Given the description of an element on the screen output the (x, y) to click on. 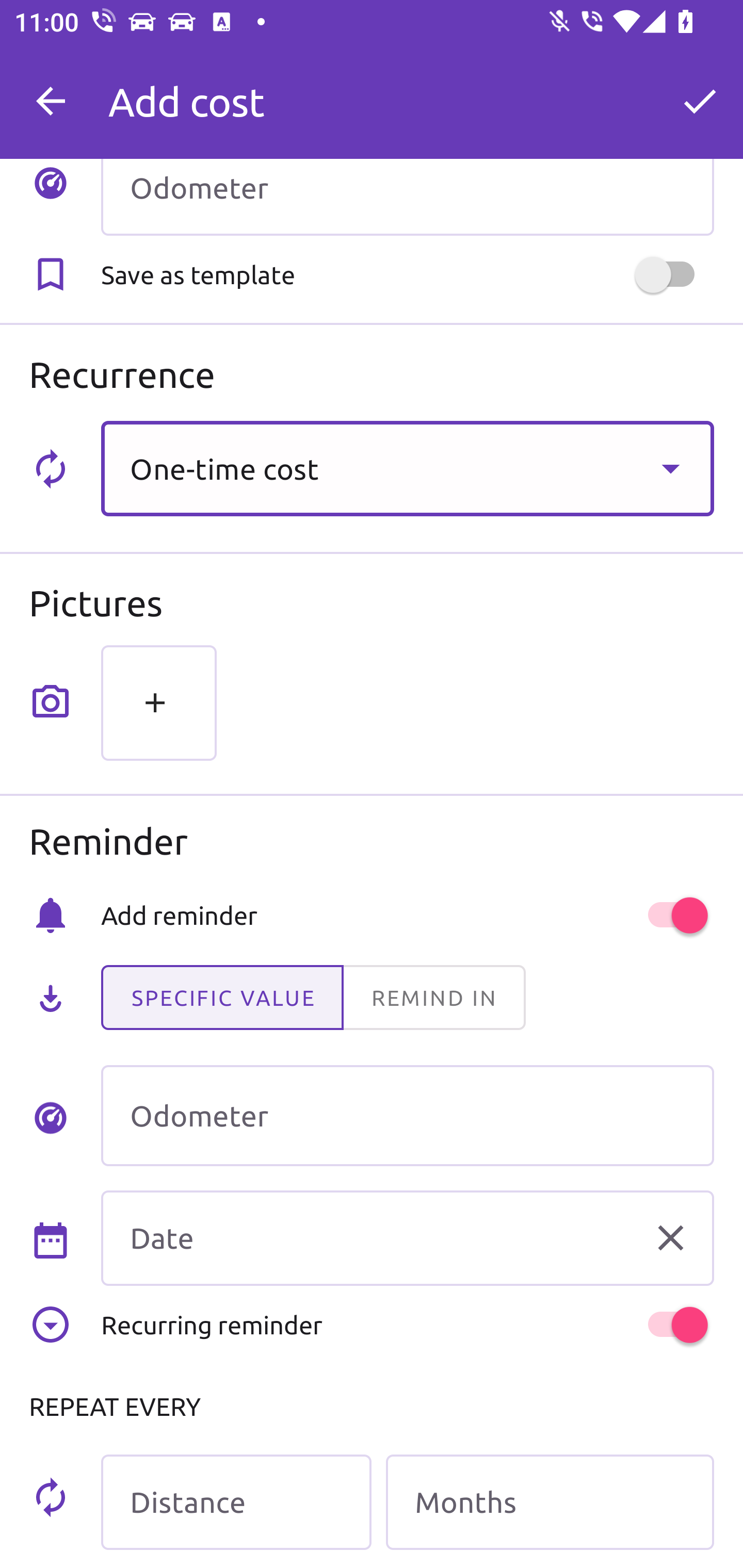
M My Car 0 km (407, 92)
Navigate up (50, 101)
OK (699, 101)
Odometer (407, 196)
Save as template (407, 274)
One-time cost (407, 467)
Show dropdown menu (670, 467)
Add reminder (407, 914)
SPECIFIC VALUE (222, 997)
REMIND IN (433, 997)
Odometer (407, 1115)
Date (407, 1237)
Delete (670, 1237)
Recurring reminder (407, 1324)
Distance (236, 1502)
Months (549, 1502)
